Given the description of an element on the screen output the (x, y) to click on. 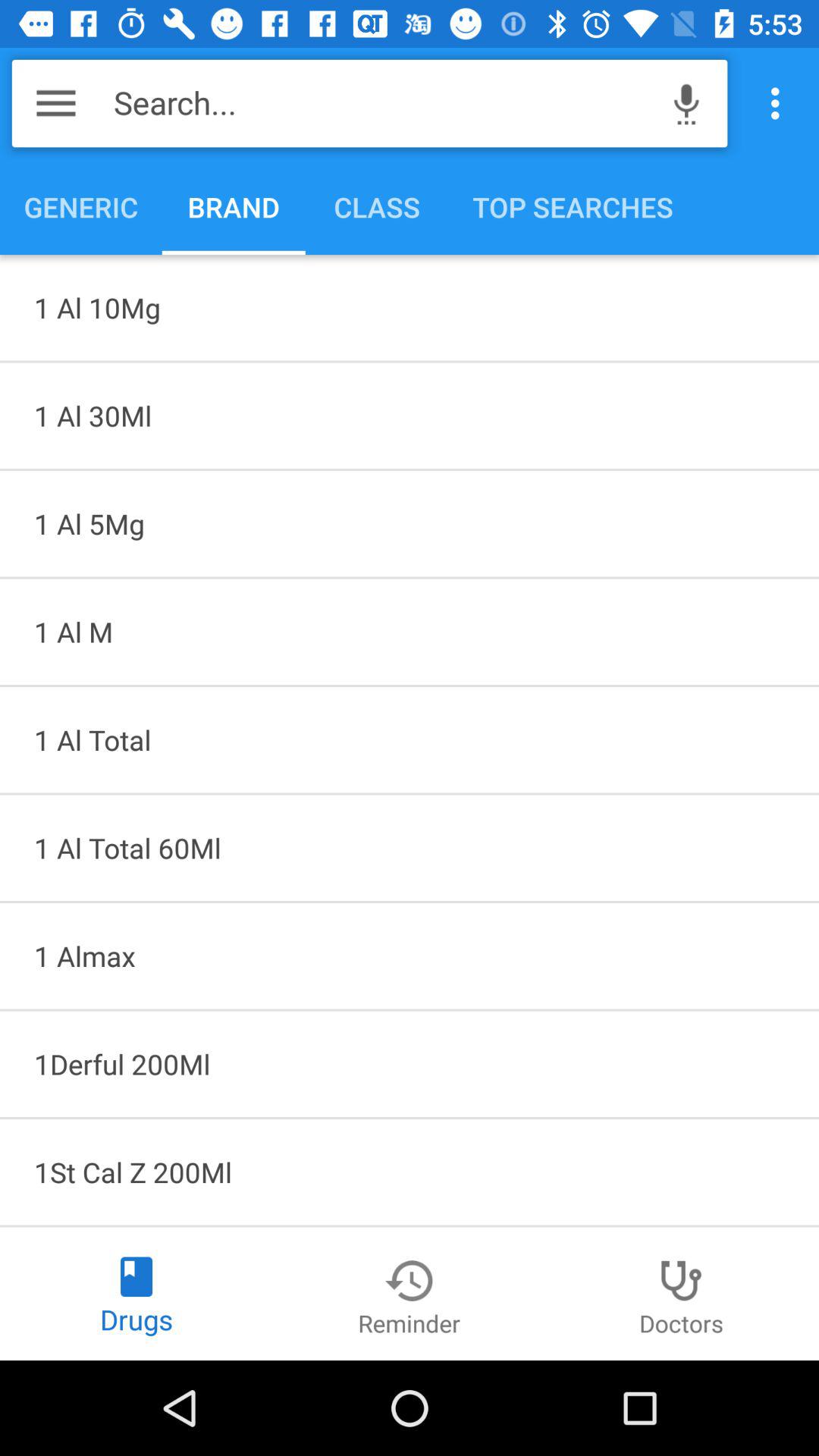
launch item above 1 al 10mg icon (779, 103)
